Given the description of an element on the screen output the (x, y) to click on. 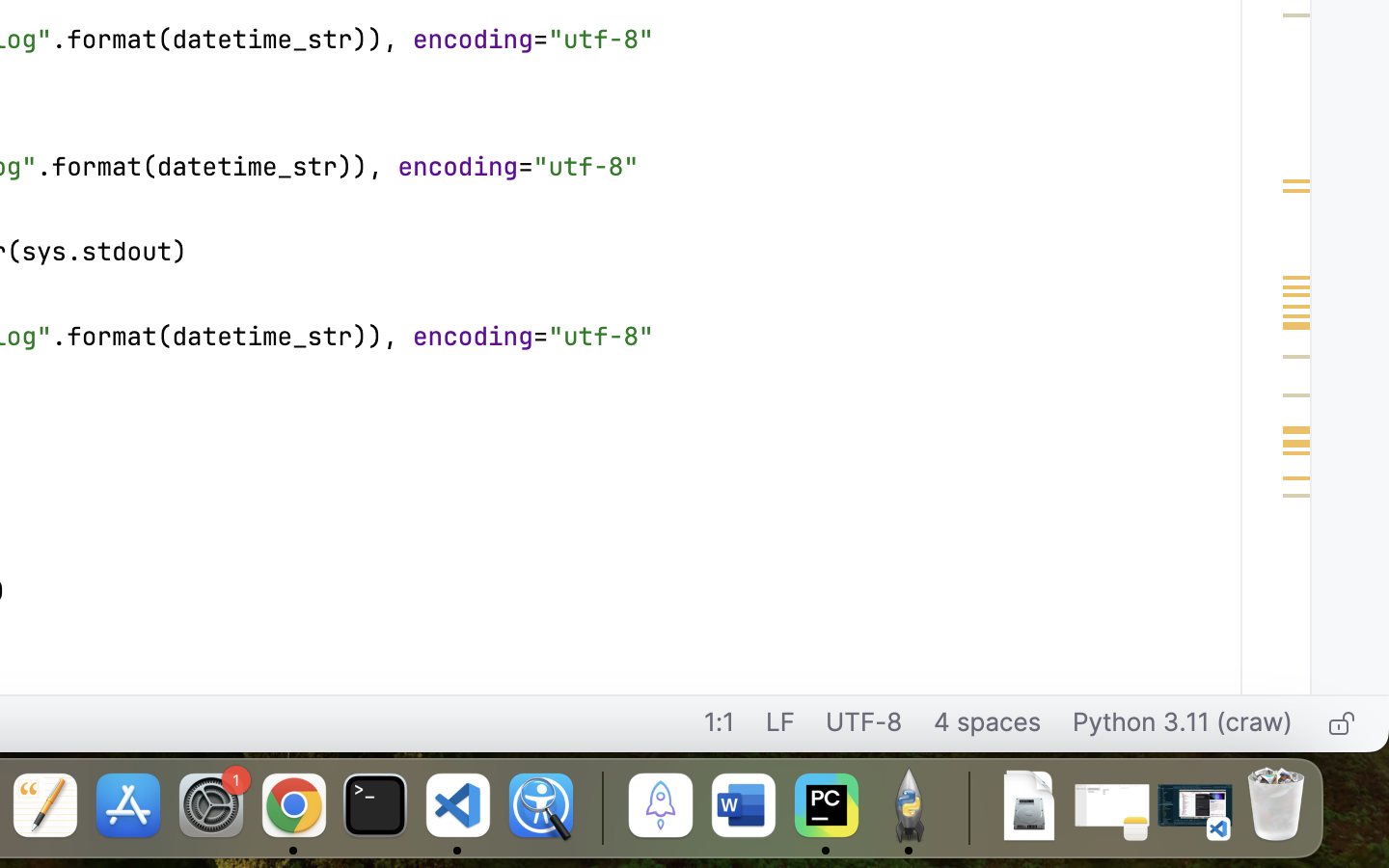
Python 3.11 (craw) Element type: AXStaticText (1182, 724)
LF Element type: AXStaticText (780, 724)
